Given the description of an element on the screen output the (x, y) to click on. 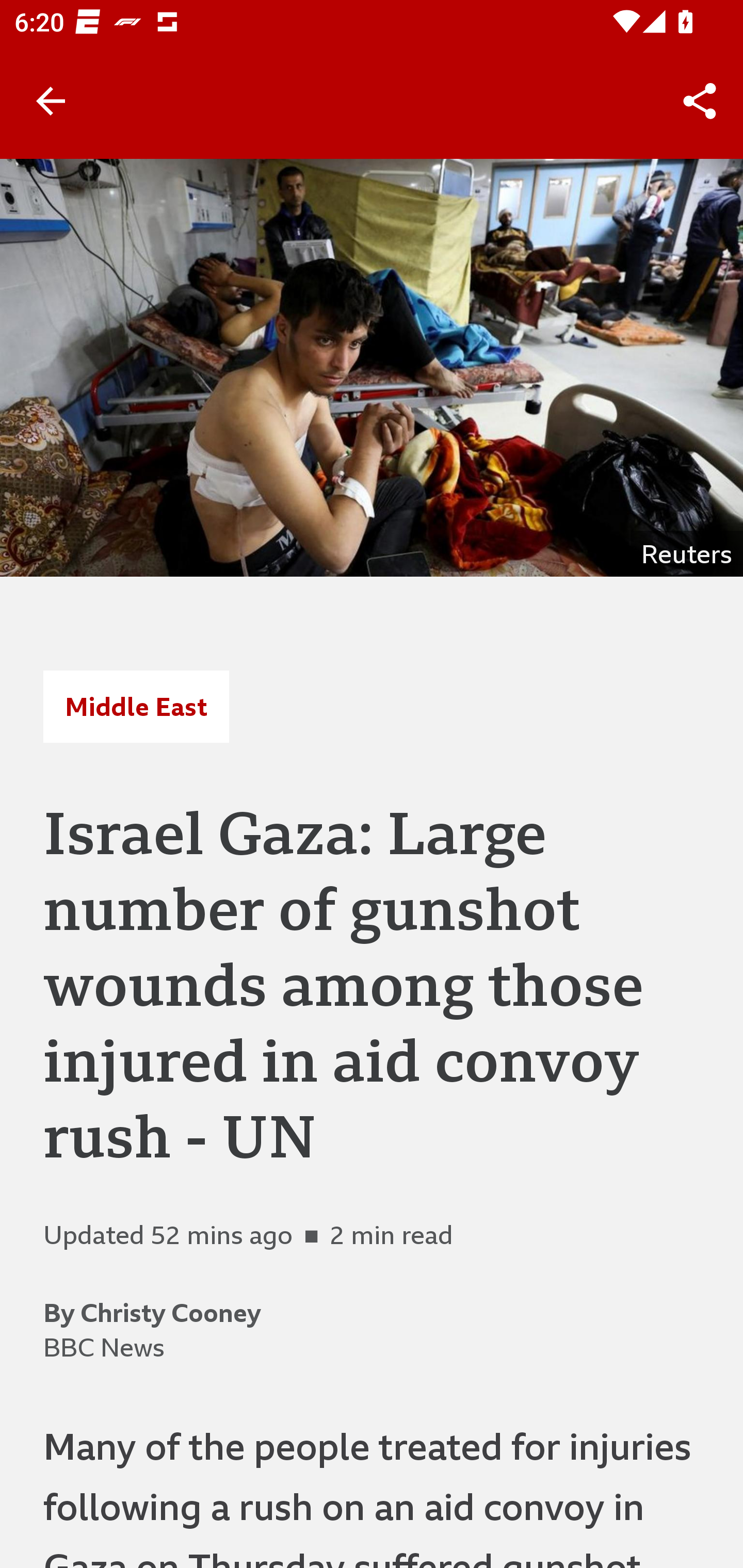
Back (50, 101)
Share (699, 101)
Middle East (135, 706)
